Given the description of an element on the screen output the (x, y) to click on. 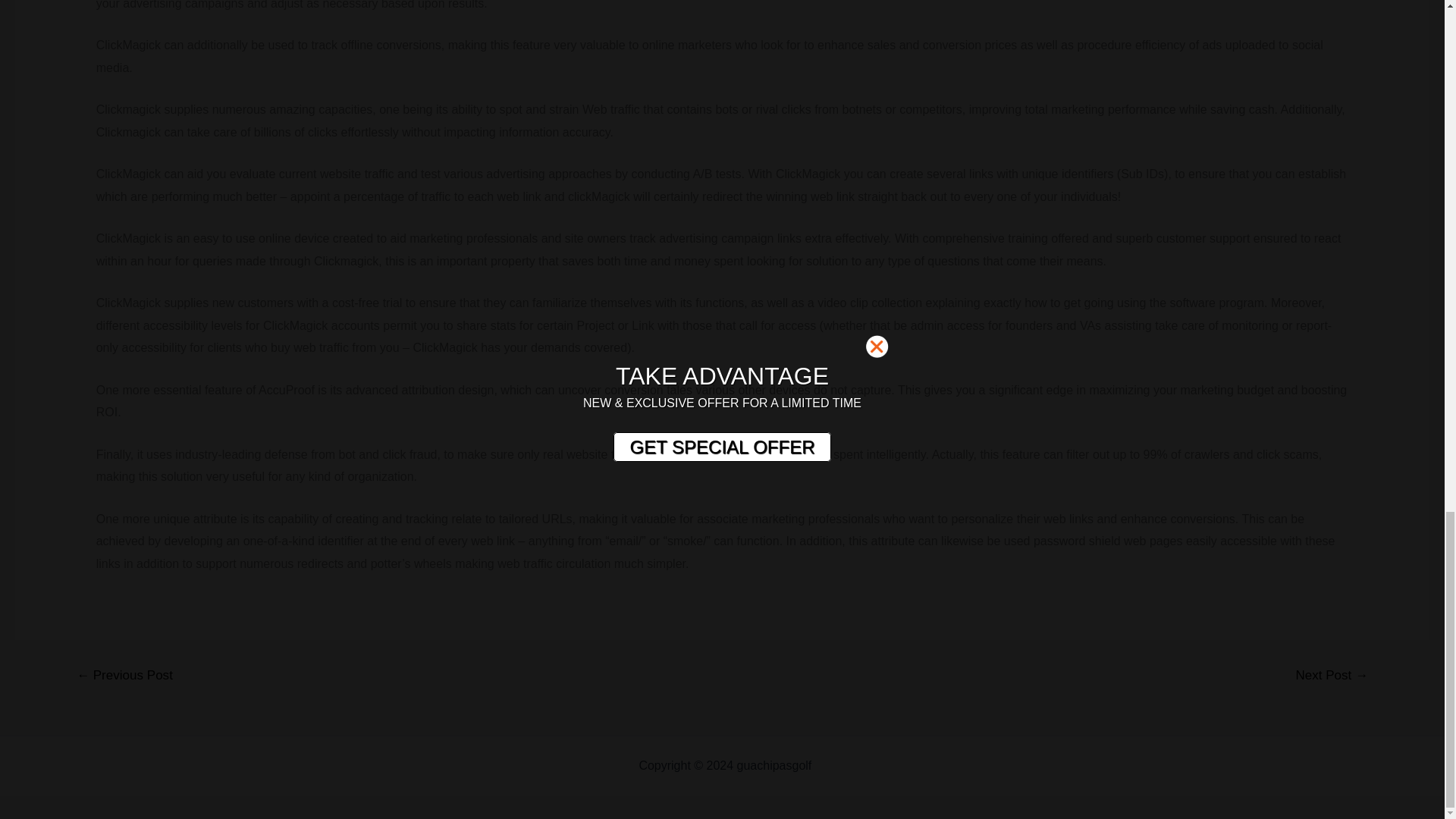
Sitemap (837, 765)
